Given the description of an element on the screen output the (x, y) to click on. 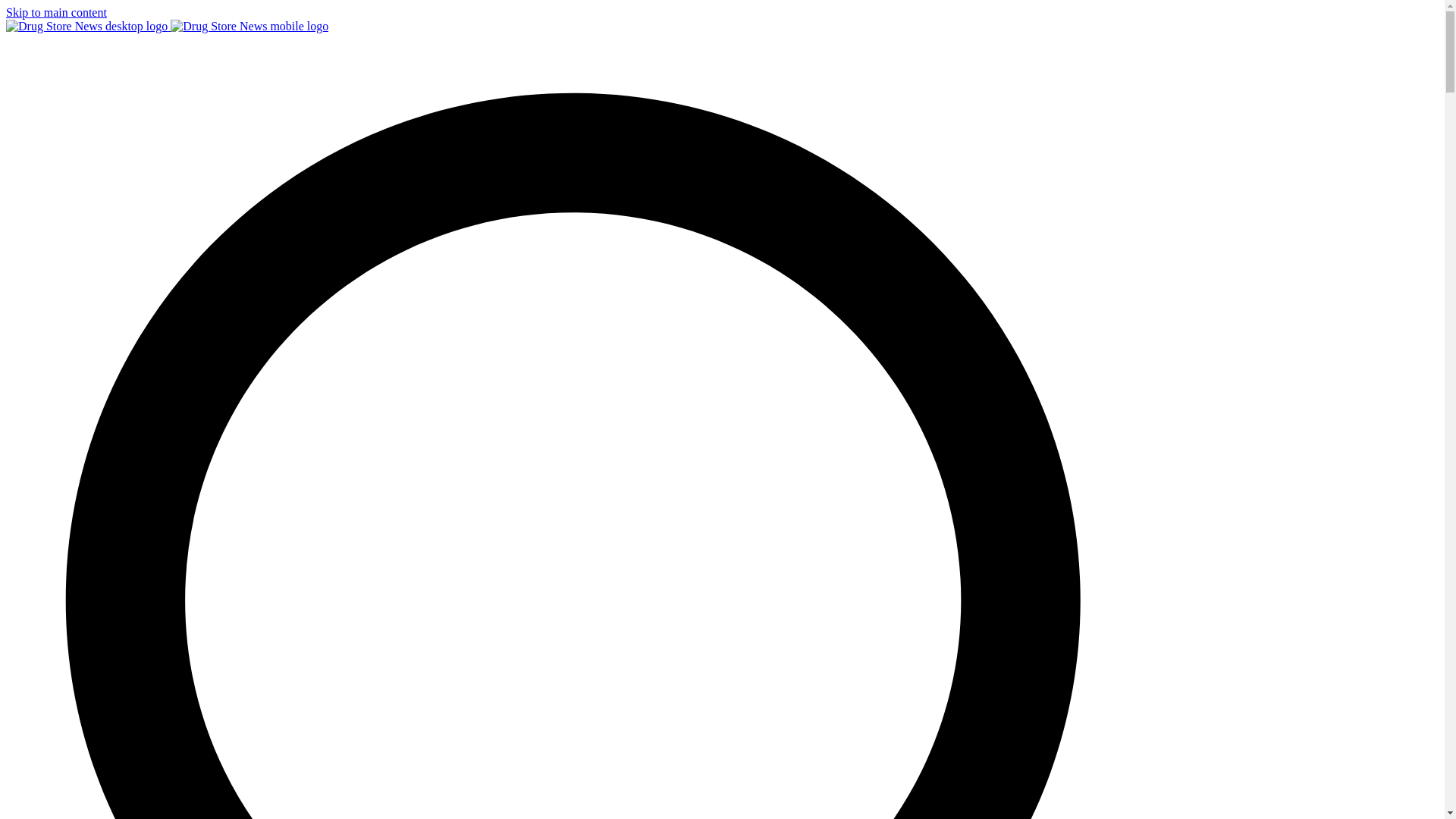
Skip to main content (55, 11)
